Given the description of an element on the screen output the (x, y) to click on. 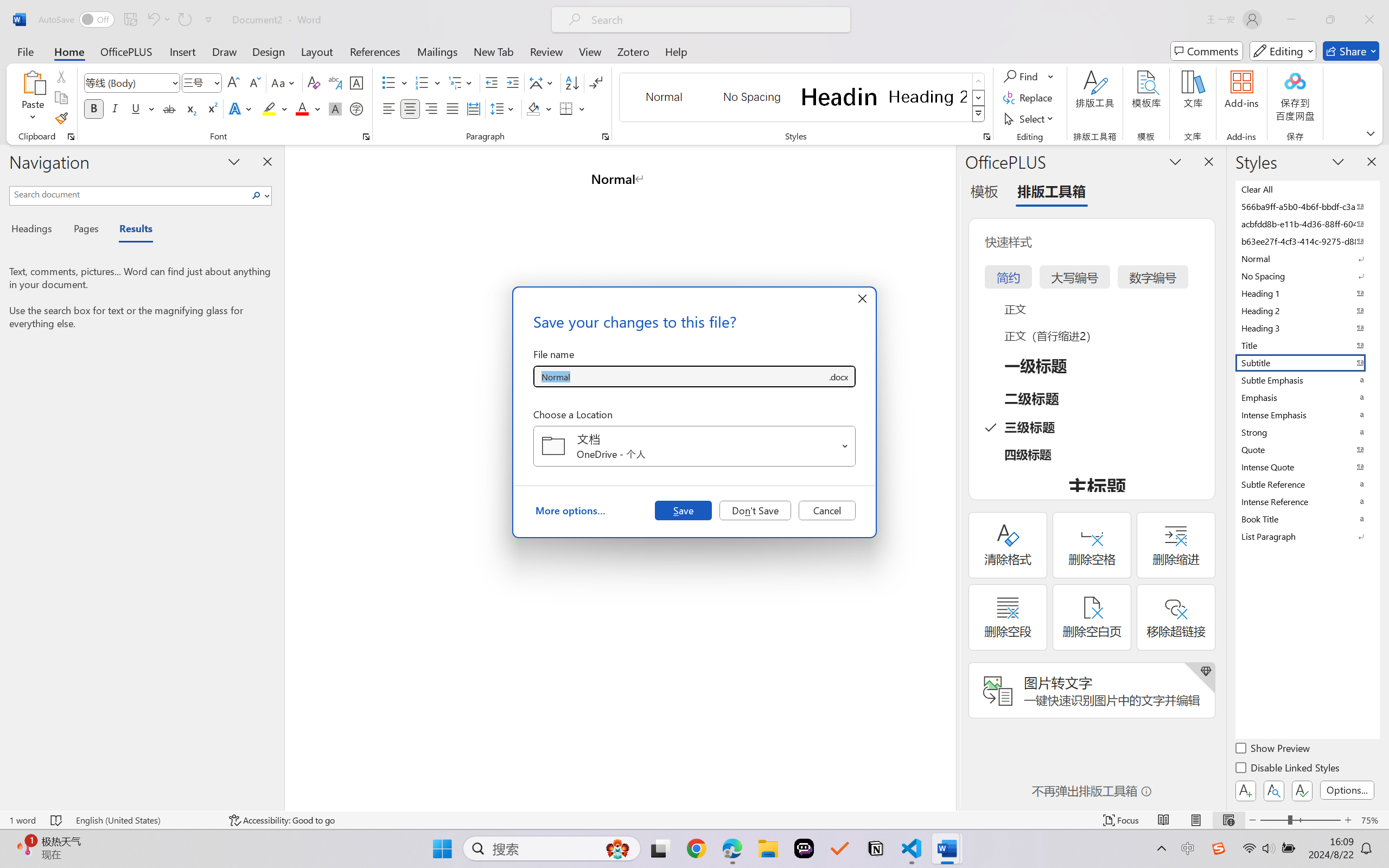
Increase Indent (512, 82)
Show Preview (1273, 749)
Customize Quick Access Toolbar (208, 19)
File Tab (24, 51)
Heading 1 (839, 96)
Zoom Out (1273, 819)
Search (256, 195)
Search document (128, 193)
Line and Paragraph Spacing (503, 108)
Superscript (210, 108)
Find (1022, 75)
